Given the description of an element on the screen output the (x, y) to click on. 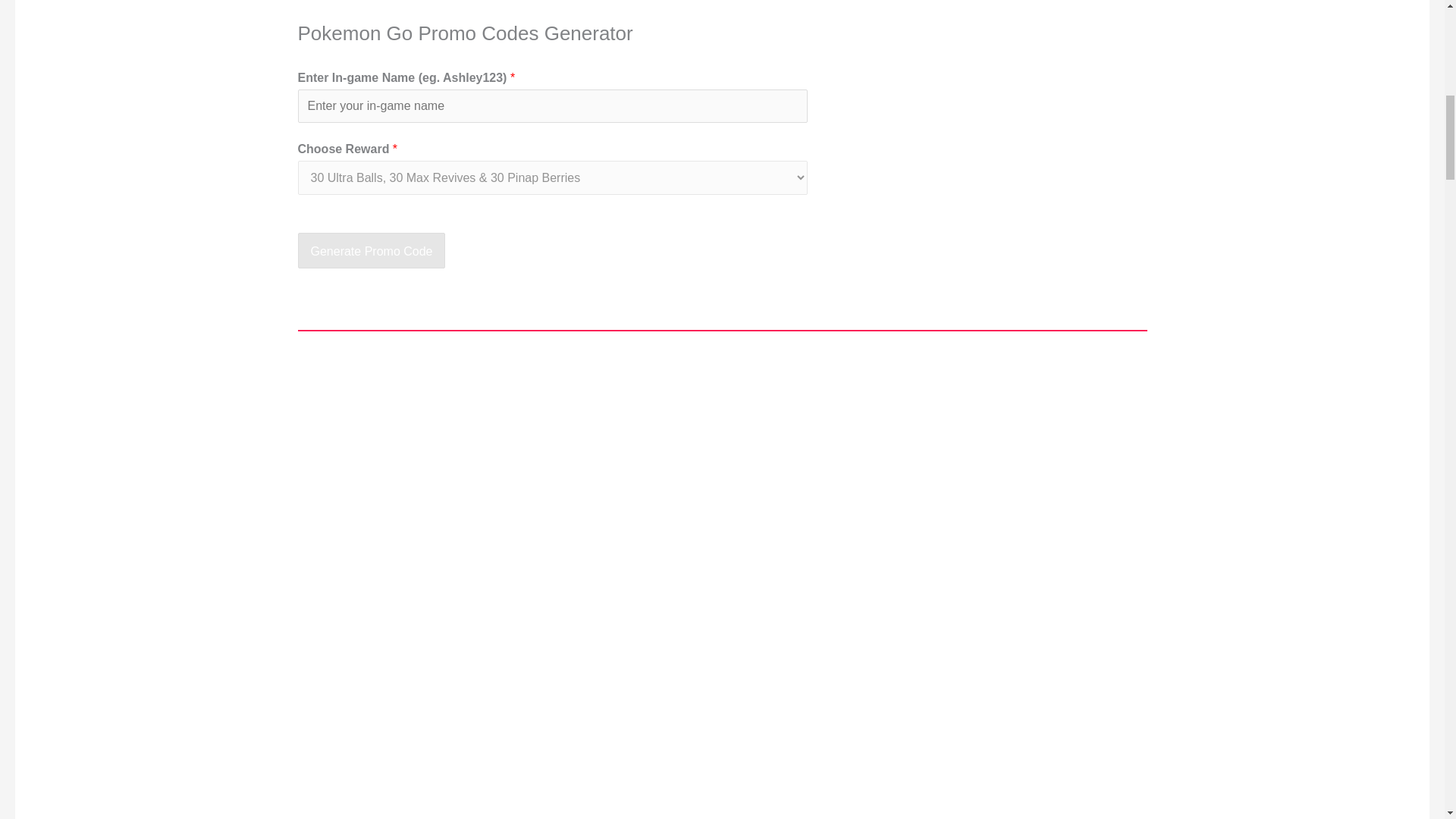
Generate Promo Code (371, 250)
